Given the description of an element on the screen output the (x, y) to click on. 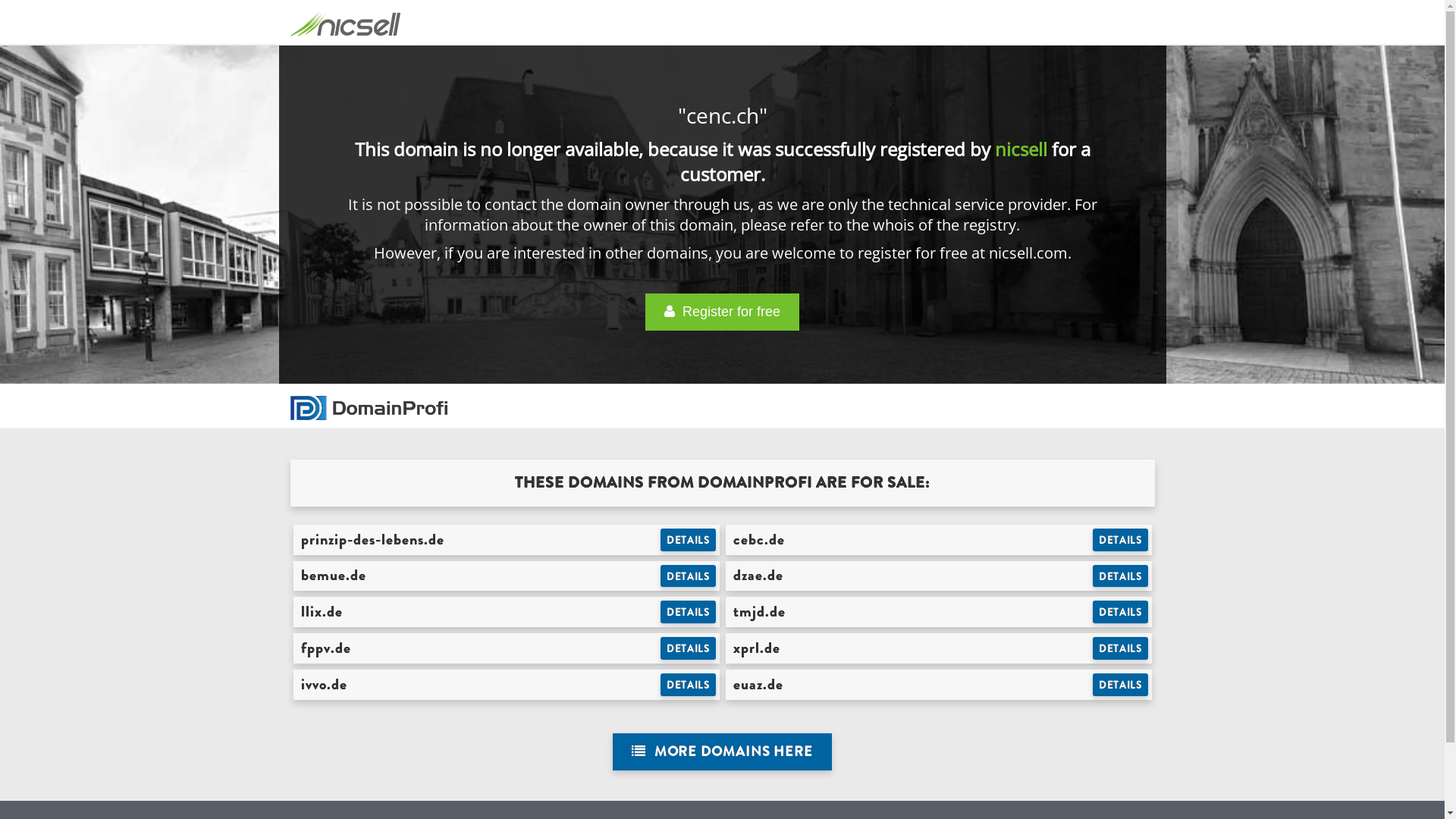
DETAILS Element type: text (1120, 648)
DETAILS Element type: text (1120, 684)
DETAILS Element type: text (1120, 611)
  Register for free Element type: text (722, 311)
  MORE DOMAINS HERE Element type: text (721, 751)
DETAILS Element type: text (687, 611)
DETAILS Element type: text (687, 539)
nicsell Element type: text (1020, 148)
DETAILS Element type: text (687, 575)
DETAILS Element type: text (687, 648)
DETAILS Element type: text (1120, 575)
DETAILS Element type: text (1120, 539)
DETAILS Element type: text (687, 684)
